Given the description of an element on the screen output the (x, y) to click on. 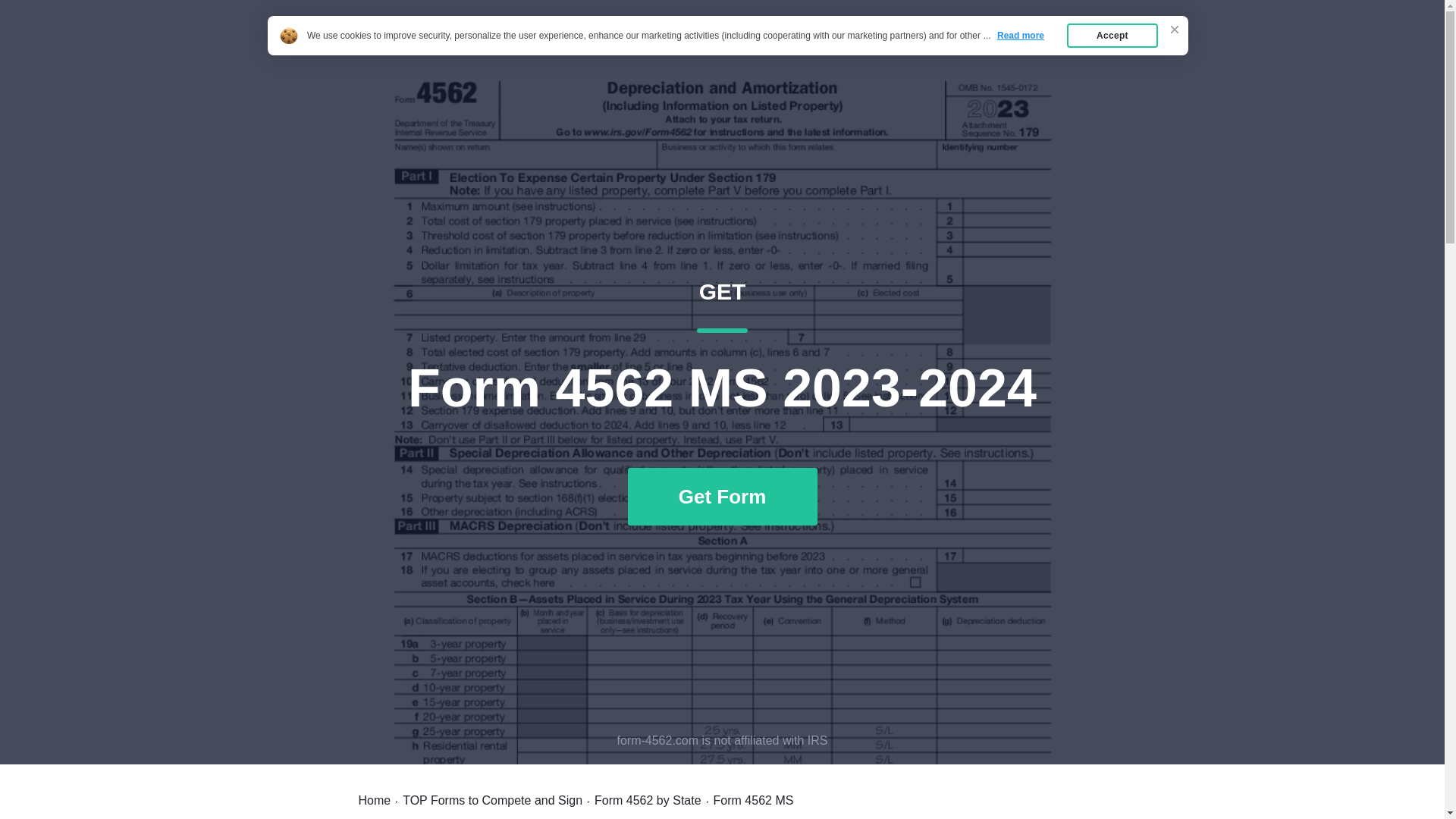
TOP Forms to Compete and Sign (492, 800)
Home (987, 47)
Form 4562 by State (647, 800)
Home (374, 800)
Top Forms (397, 46)
